Given the description of an element on the screen output the (x, y) to click on. 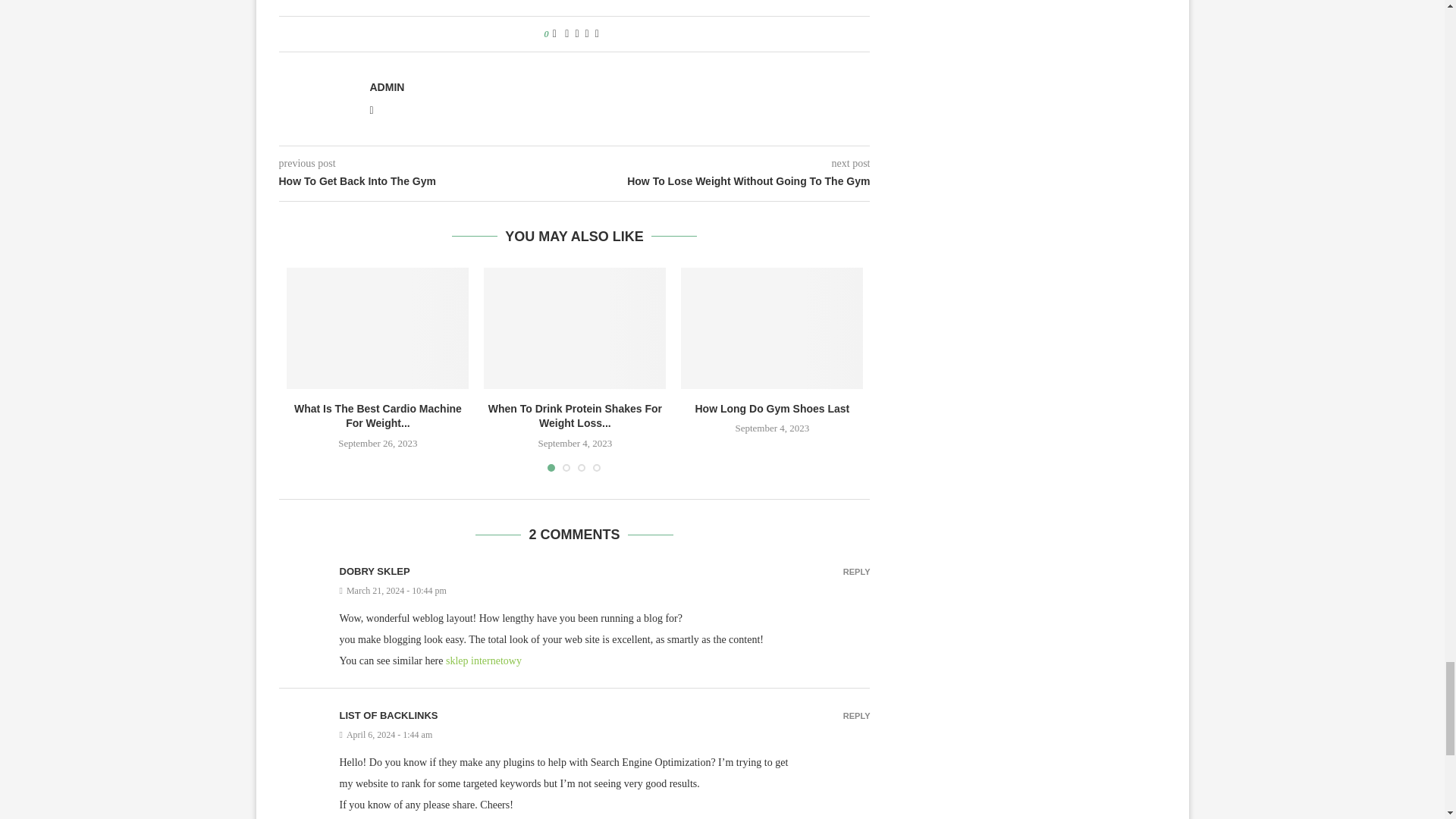
When To Drink Protein Shakes For Weight Loss Female (574, 328)
How Long Do Gym Shoes Last (772, 328)
What Is The Best Cardio Machine For Weight Loss (377, 328)
Author admin (386, 87)
